Given the description of an element on the screen output the (x, y) to click on. 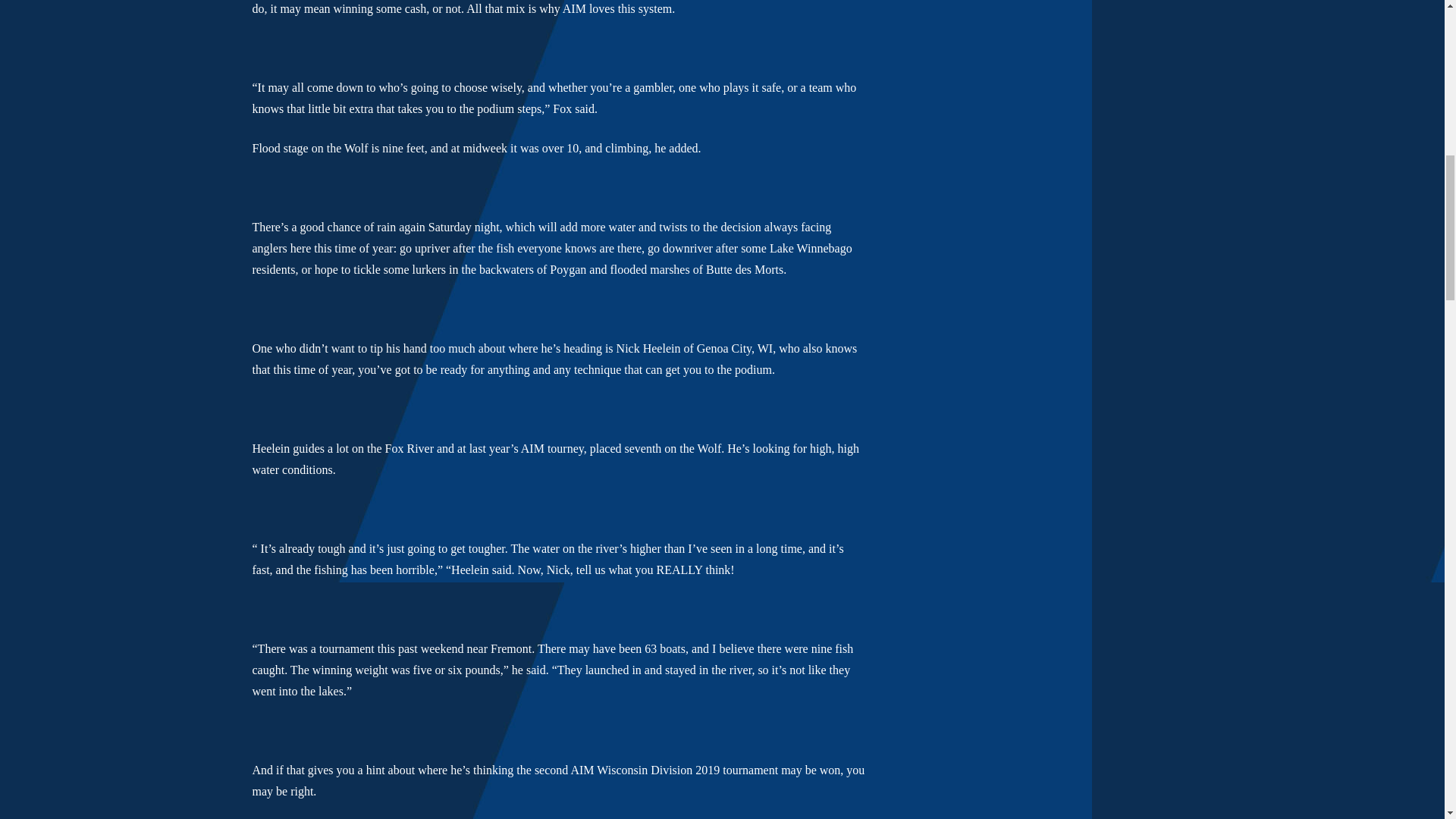
Back to top (1413, 30)
